Given the description of an element on the screen output the (x, y) to click on. 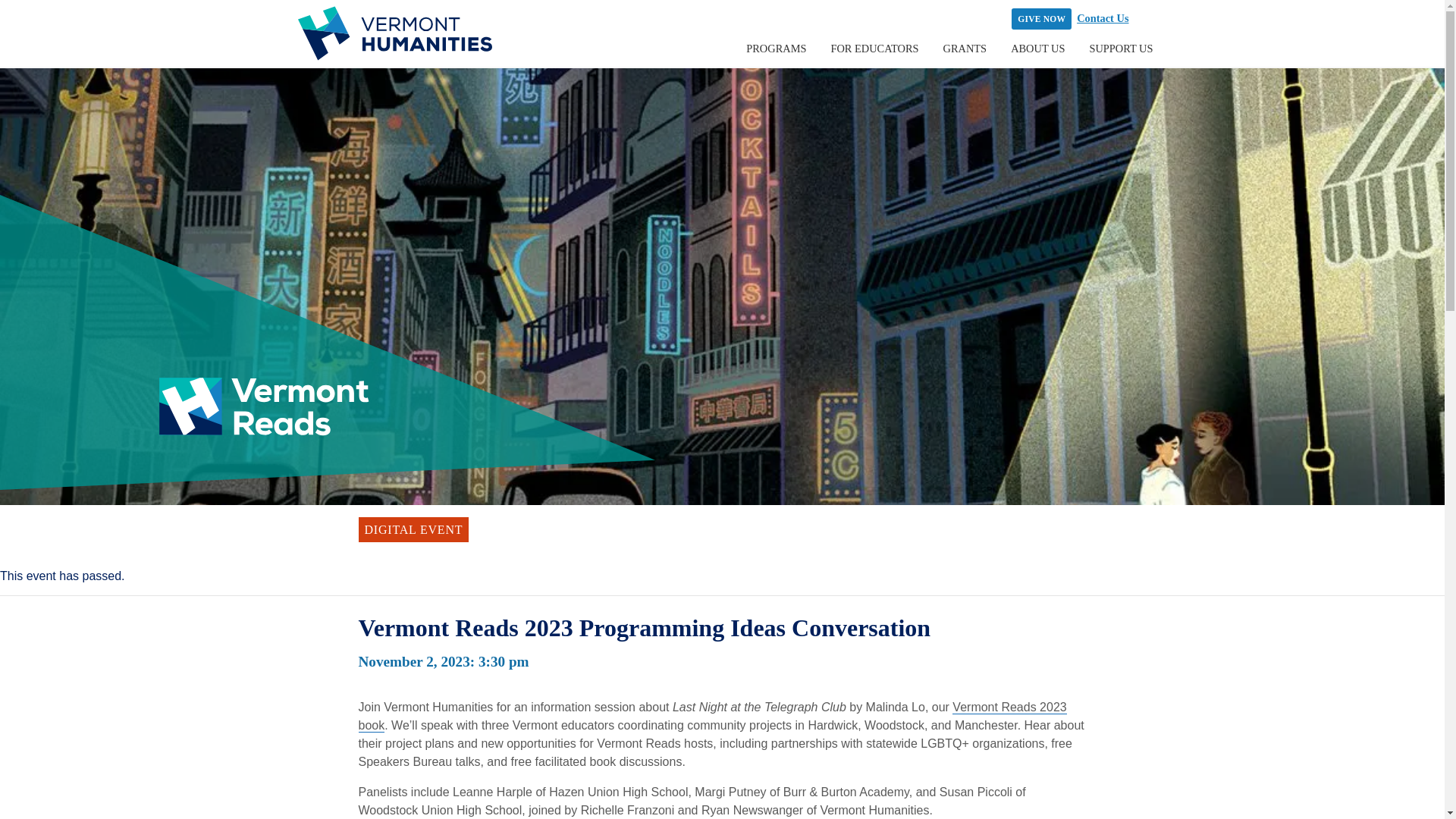
PROGRAMS (775, 49)
FOR EDUCATORS (874, 49)
GRANTS (964, 49)
